Given the description of an element on the screen output the (x, y) to click on. 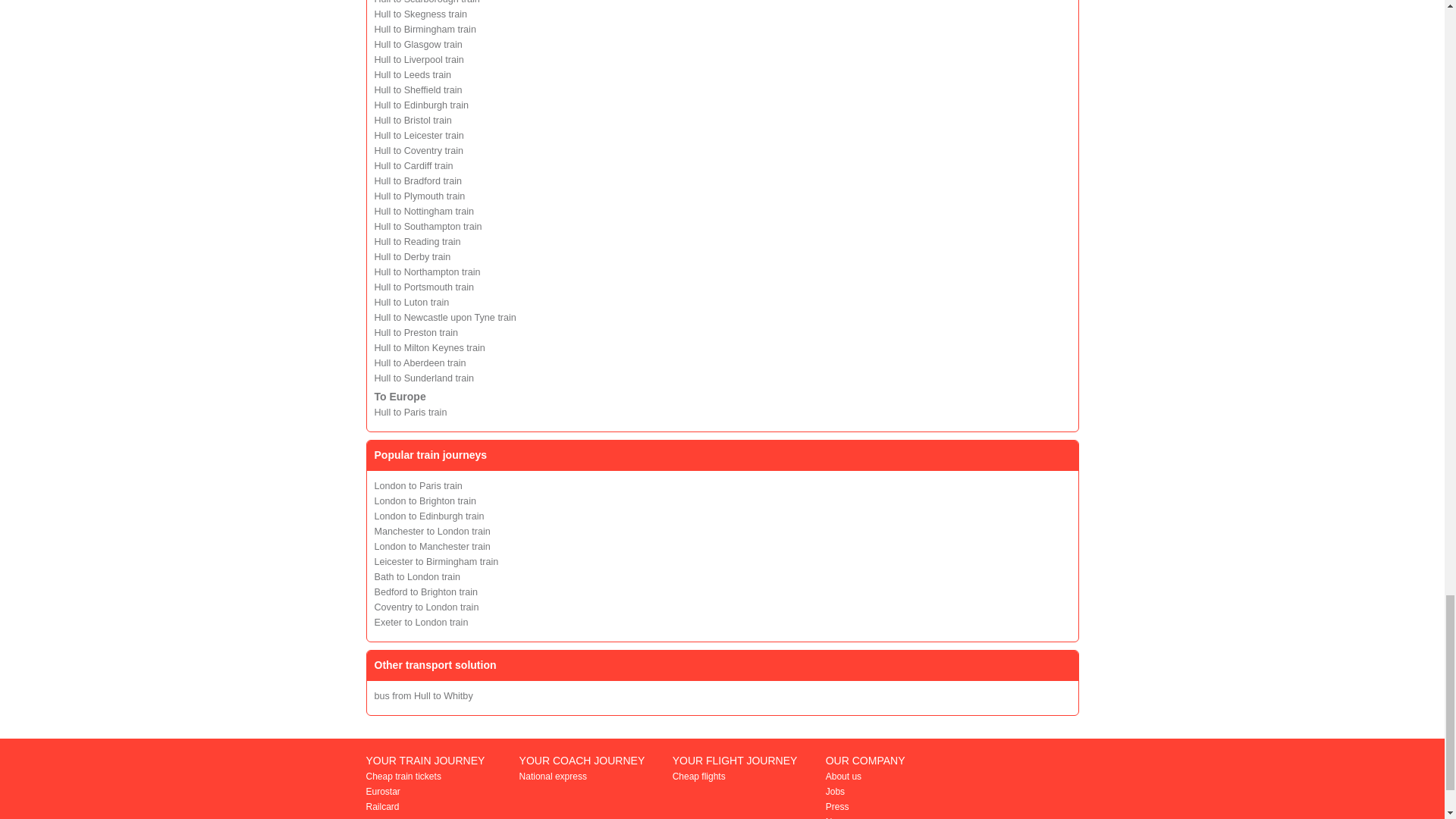
Hull to Nottingham train (424, 211)
Hull to Scarborough train (427, 2)
Hull to Bristol train (412, 120)
Hull to Liverpool train (419, 59)
Hull to Edinburgh train (421, 104)
Hull to Leicester train (419, 135)
Hull to Sheffield train (418, 90)
Hull to Plymouth train (419, 195)
Hull to Skegness train (420, 14)
Hull to Glasgow train (418, 44)
